Given the description of an element on the screen output the (x, y) to click on. 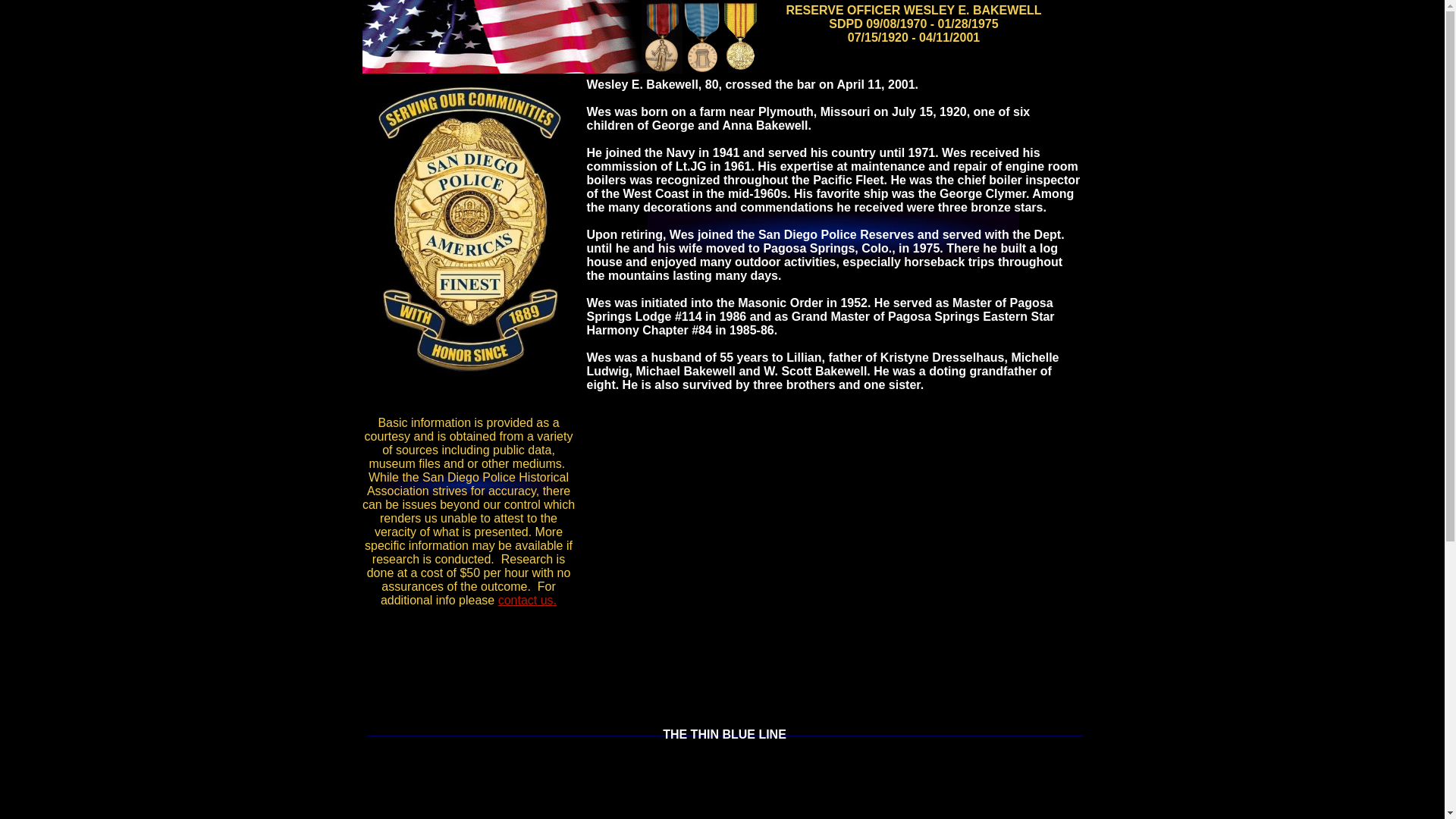
contact us (525, 599)
